Given the description of an element on the screen output the (x, y) to click on. 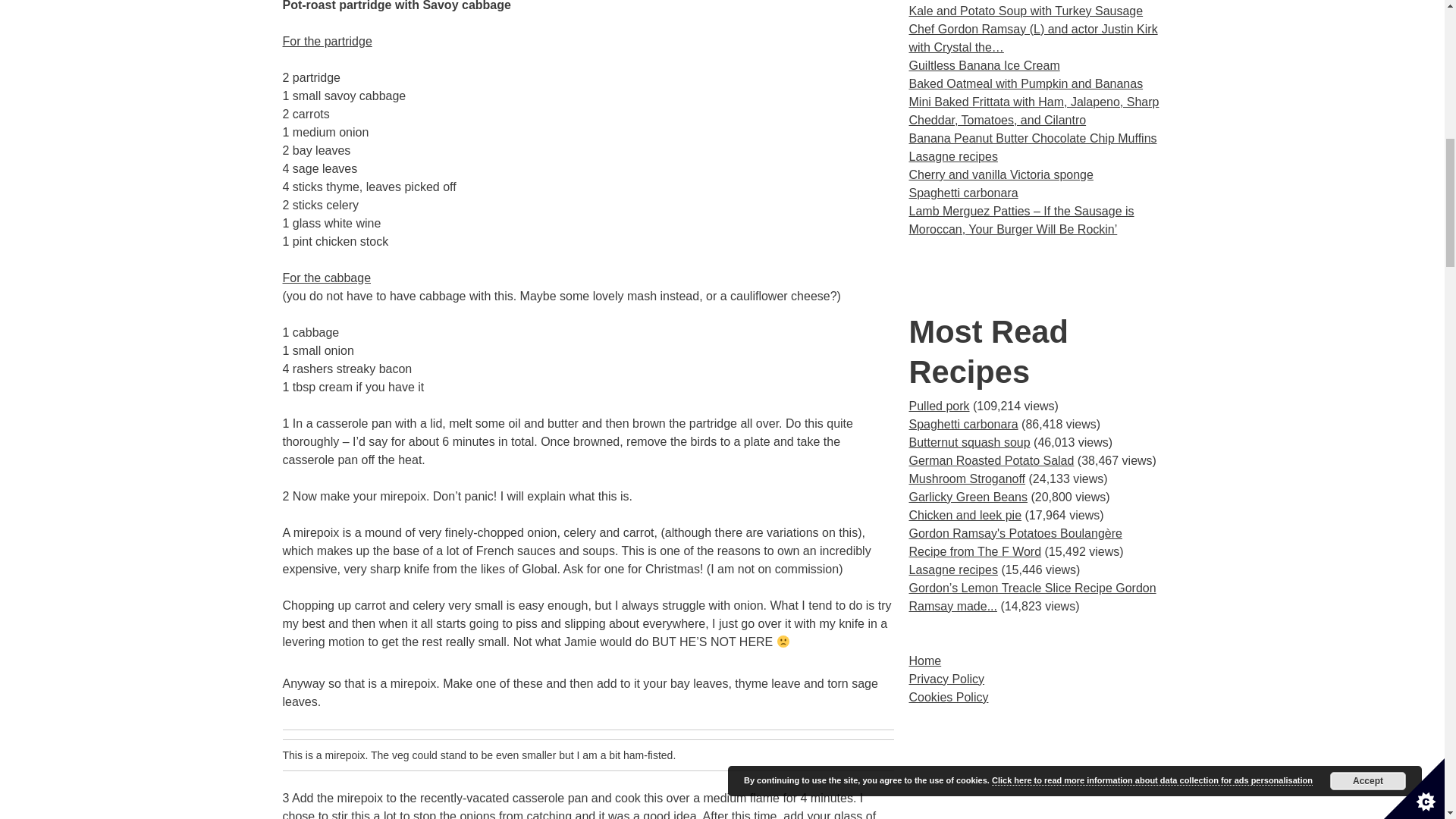
Garlicky Green Beans (967, 496)
Lasagne recipes (952, 569)
Mushroom Stroganoff (966, 478)
Spaghetti carbonara (962, 423)
Butternut squash soup (968, 441)
Chicken and leek pie (965, 514)
German Roasted Potato Salad (991, 460)
Pulled pork (938, 405)
